Given the description of an element on the screen output the (x, y) to click on. 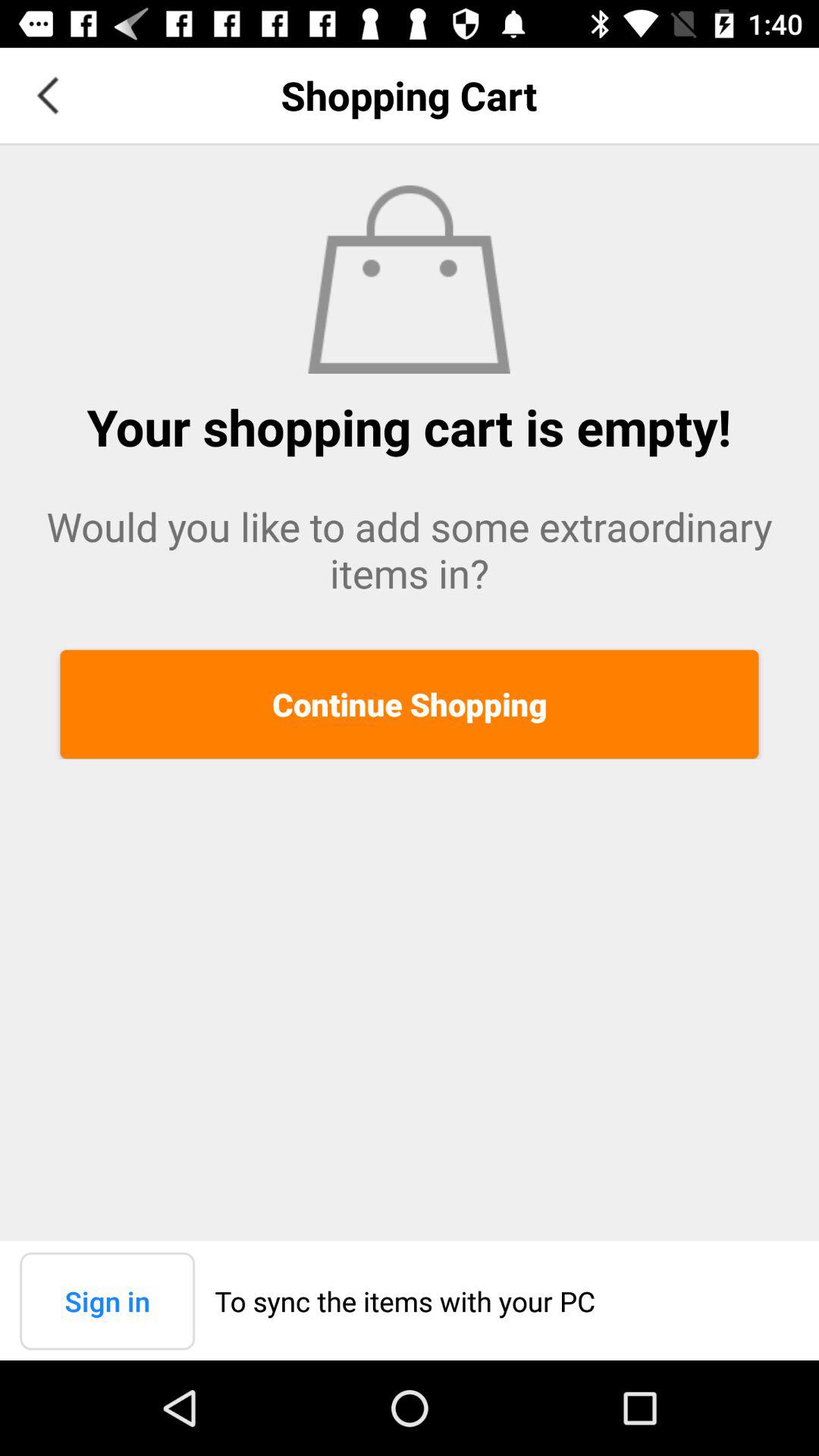
press item next to to sync the (107, 1301)
